Given the description of an element on the screen output the (x, y) to click on. 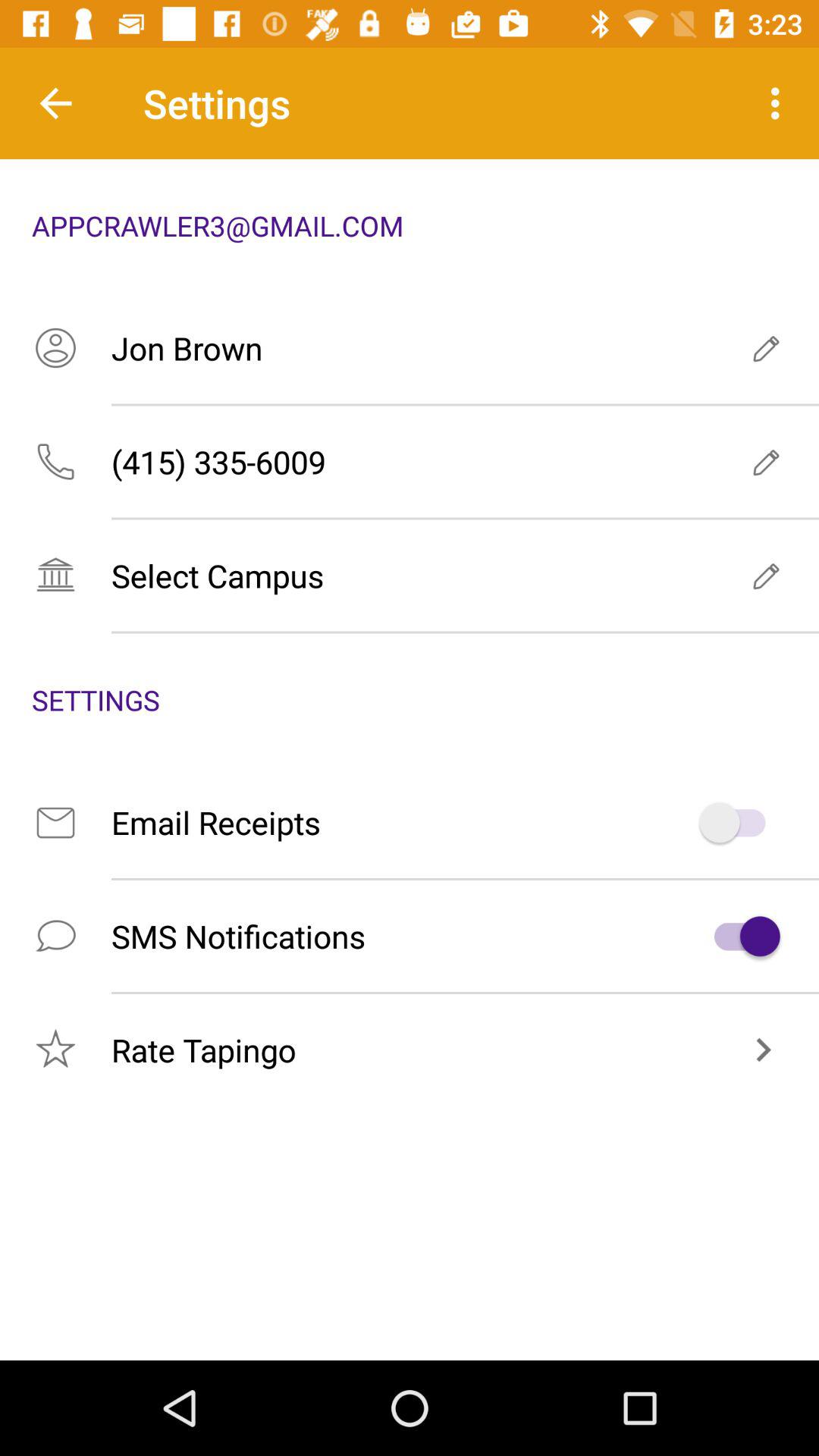
choose the item above sms notifications icon (409, 822)
